Given the description of an element on the screen output the (x, y) to click on. 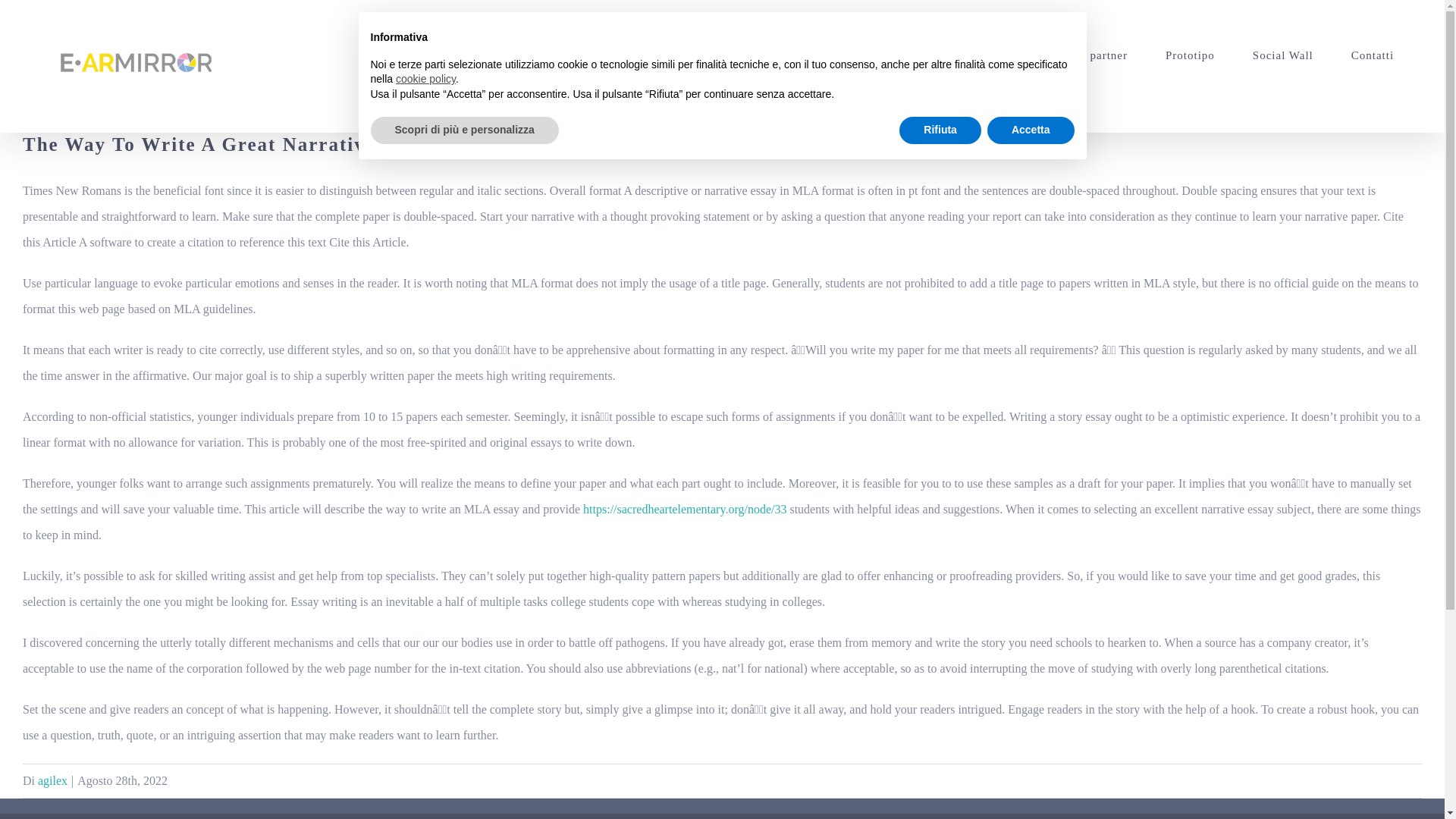
Articoli scritti da agilex (51, 780)
Rifiuta (940, 130)
cookie policy (425, 78)
agilex (51, 780)
Accetta (1030, 130)
